Given the description of an element on the screen output the (x, y) to click on. 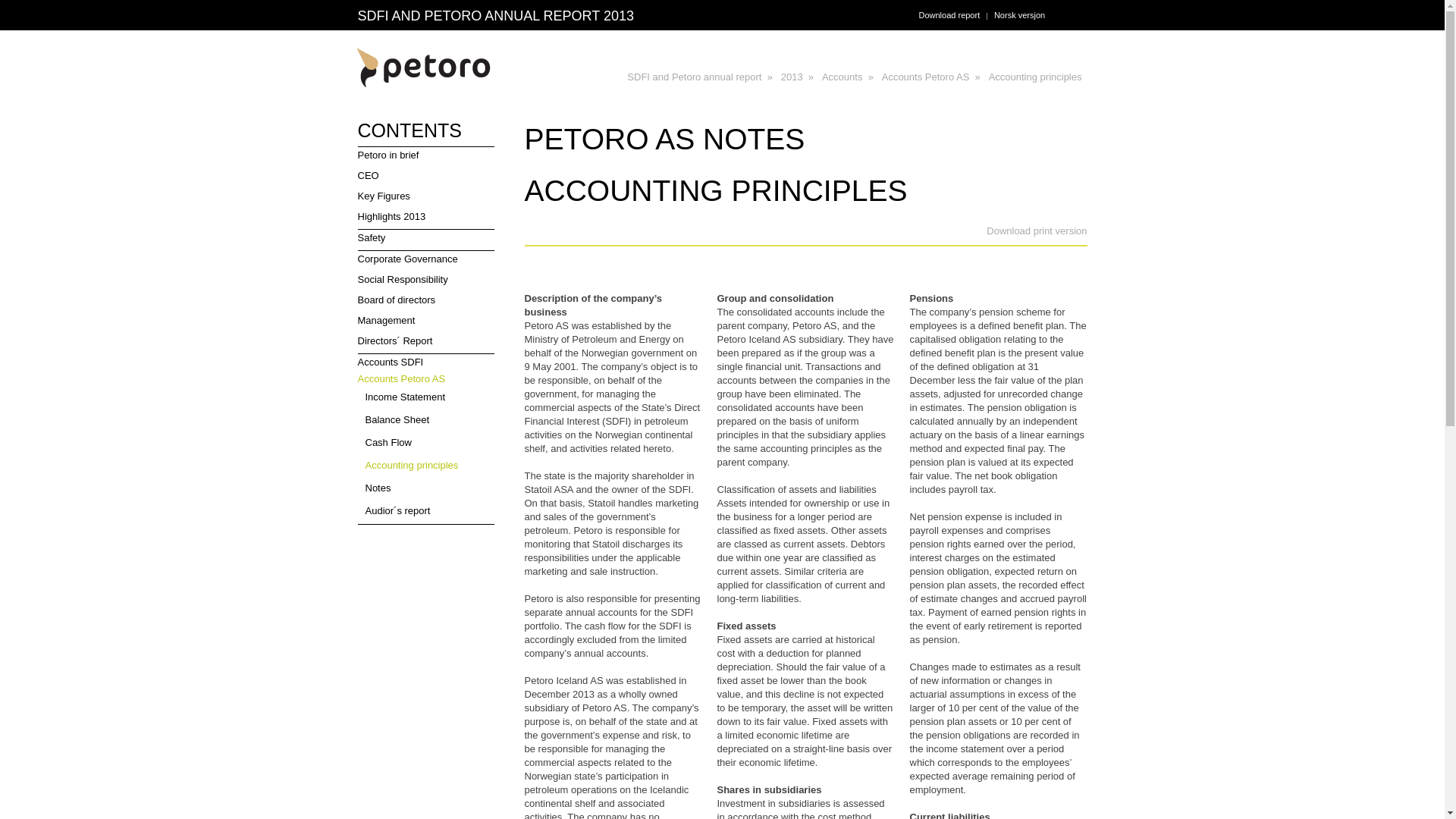
Accounting principles (426, 466)
Accounts SDFI (426, 362)
Download report (948, 14)
Management (430, 322)
Accounts (841, 76)
Petoro in brief (430, 157)
Key Figures (430, 198)
Norsk versjon (1019, 14)
Social Responsibility (430, 281)
2013 (791, 76)
